Given the description of an element on the screen output the (x, y) to click on. 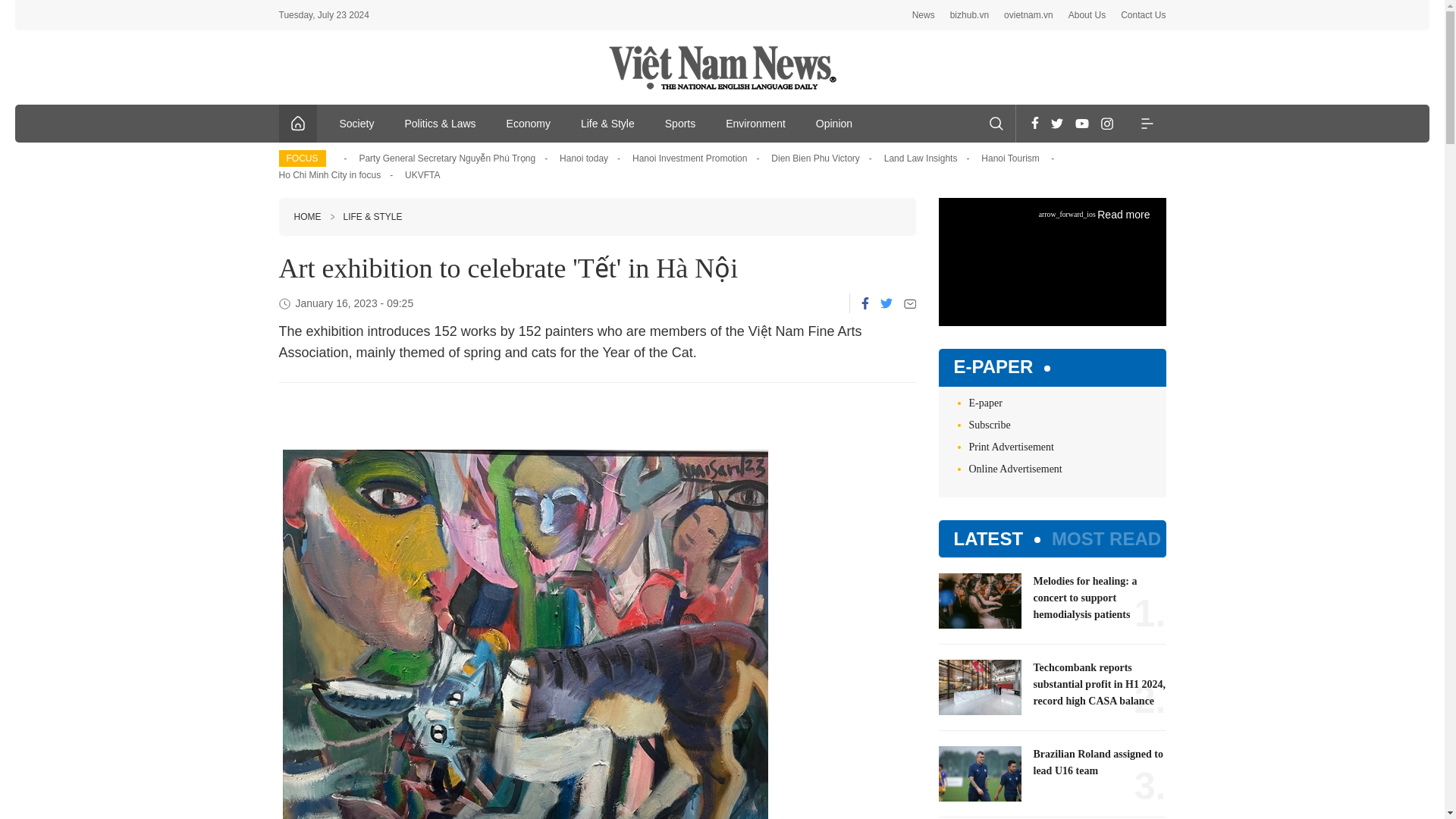
Instagram (1106, 123)
Society (357, 123)
Opinion (833, 123)
Environment (755, 123)
Twitter (885, 303)
Youtube (1081, 122)
News (923, 15)
Email (909, 303)
About Us (1086, 15)
Sports (679, 123)
ovietnam.vn (1028, 15)
bizhub.vn (969, 15)
Twitter (1056, 122)
Facebook (1035, 123)
Contact Us (1143, 15)
